Given the description of an element on the screen output the (x, y) to click on. 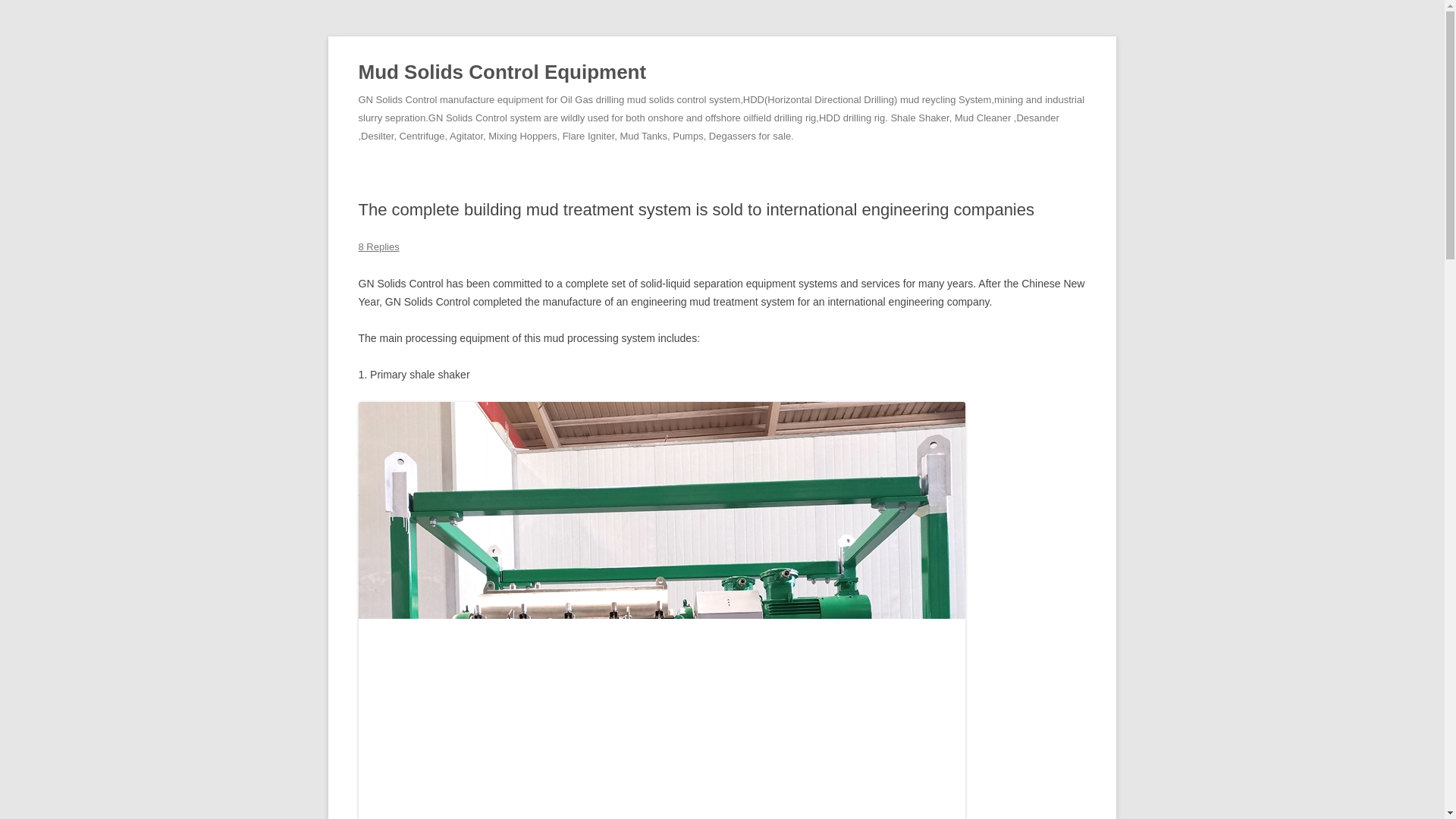
Mud Solids Control Equipment (502, 72)
8 Replies (378, 246)
